Given the description of an element on the screen output the (x, y) to click on. 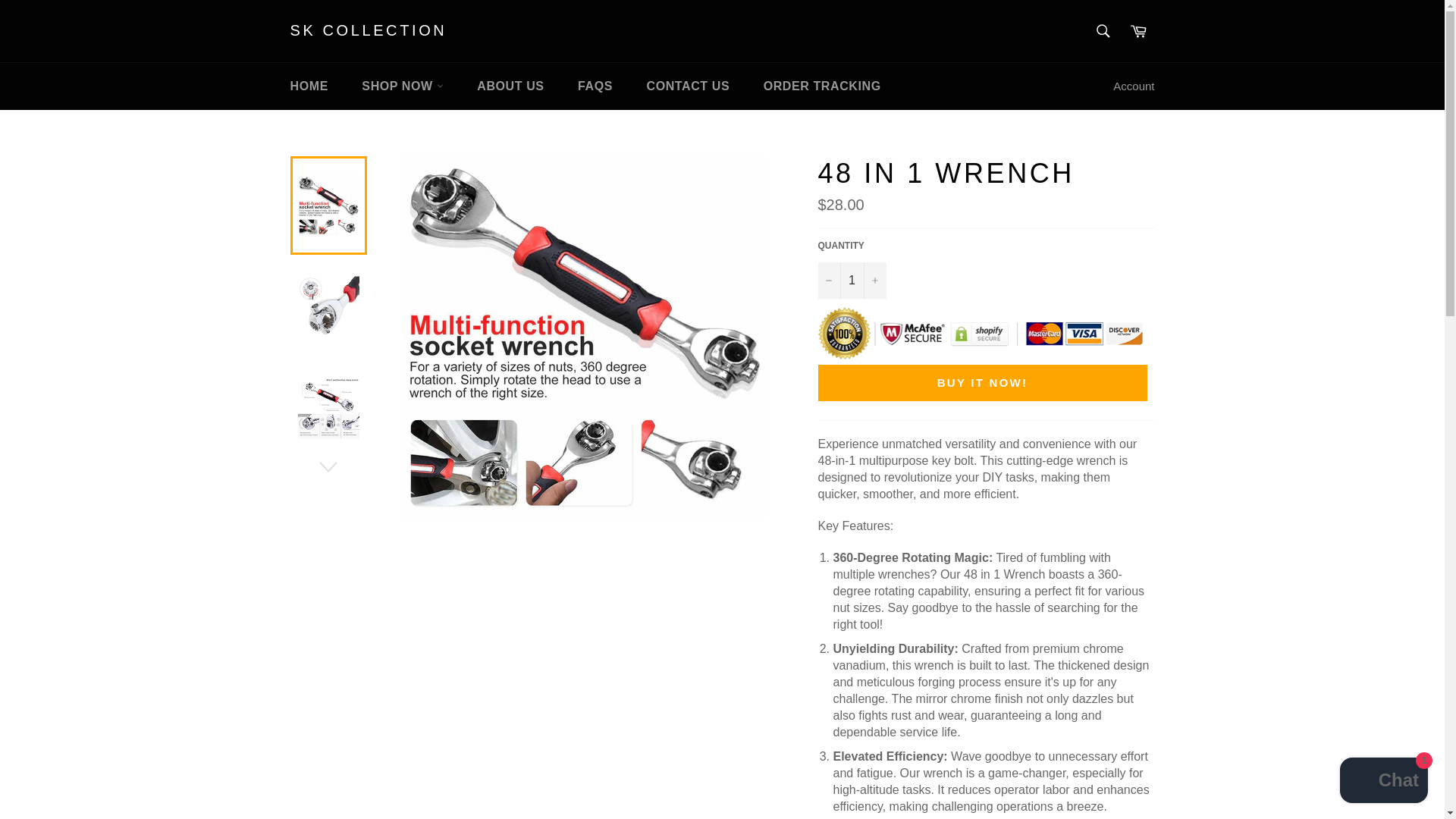
HOME (308, 86)
SK COLLECTION (367, 30)
Cart (1138, 30)
1 (850, 280)
Search (1103, 30)
Shopify online store chat (1383, 781)
SHOP NOW (402, 86)
